Given the description of an element on the screen output the (x, y) to click on. 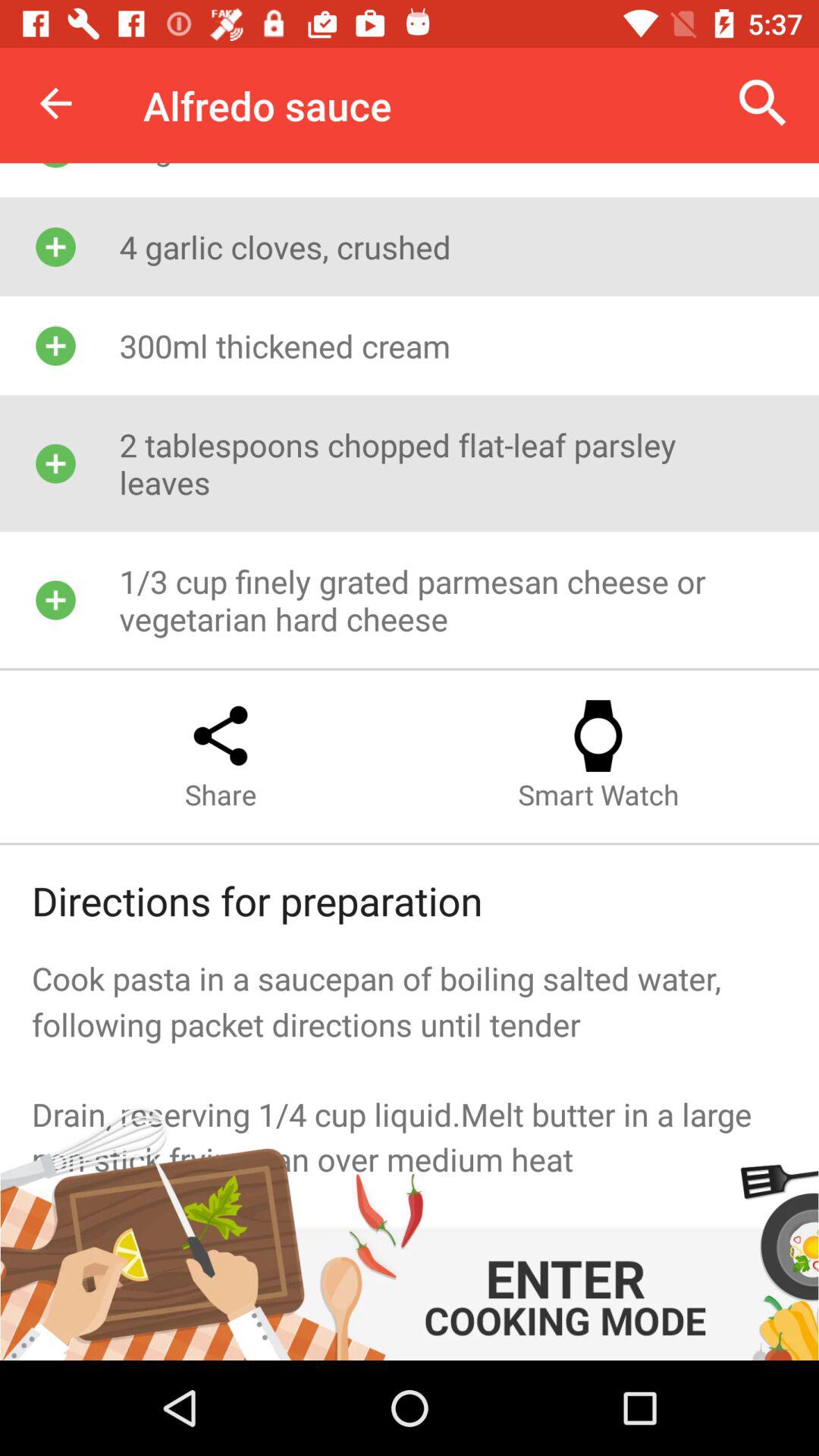
click the item to the left of alfredo sauce icon (55, 103)
